Given the description of an element on the screen output the (x, y) to click on. 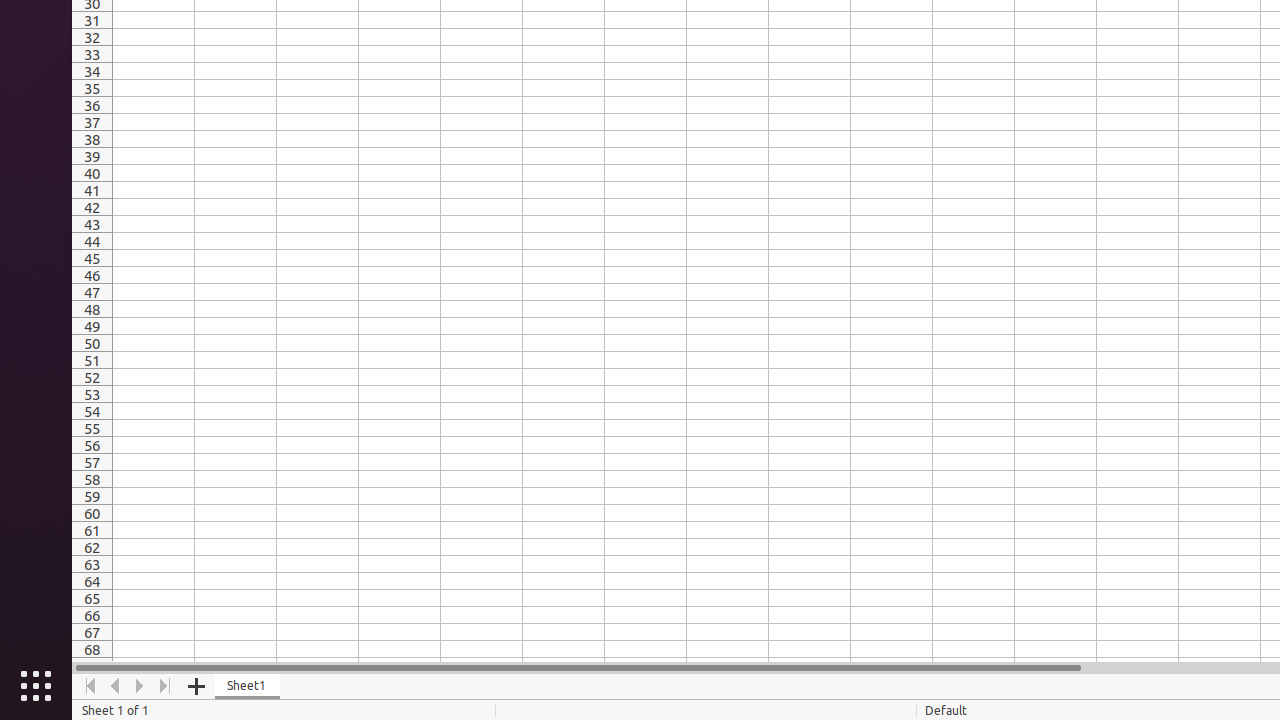
Sheet1 Element type: page-tab (247, 686)
Move To Home Element type: push-button (90, 686)
Show Applications Element type: toggle-button (36, 686)
Move Right Element type: push-button (140, 686)
Move To End Element type: push-button (165, 686)
